Given the description of an element on the screen output the (x, y) to click on. 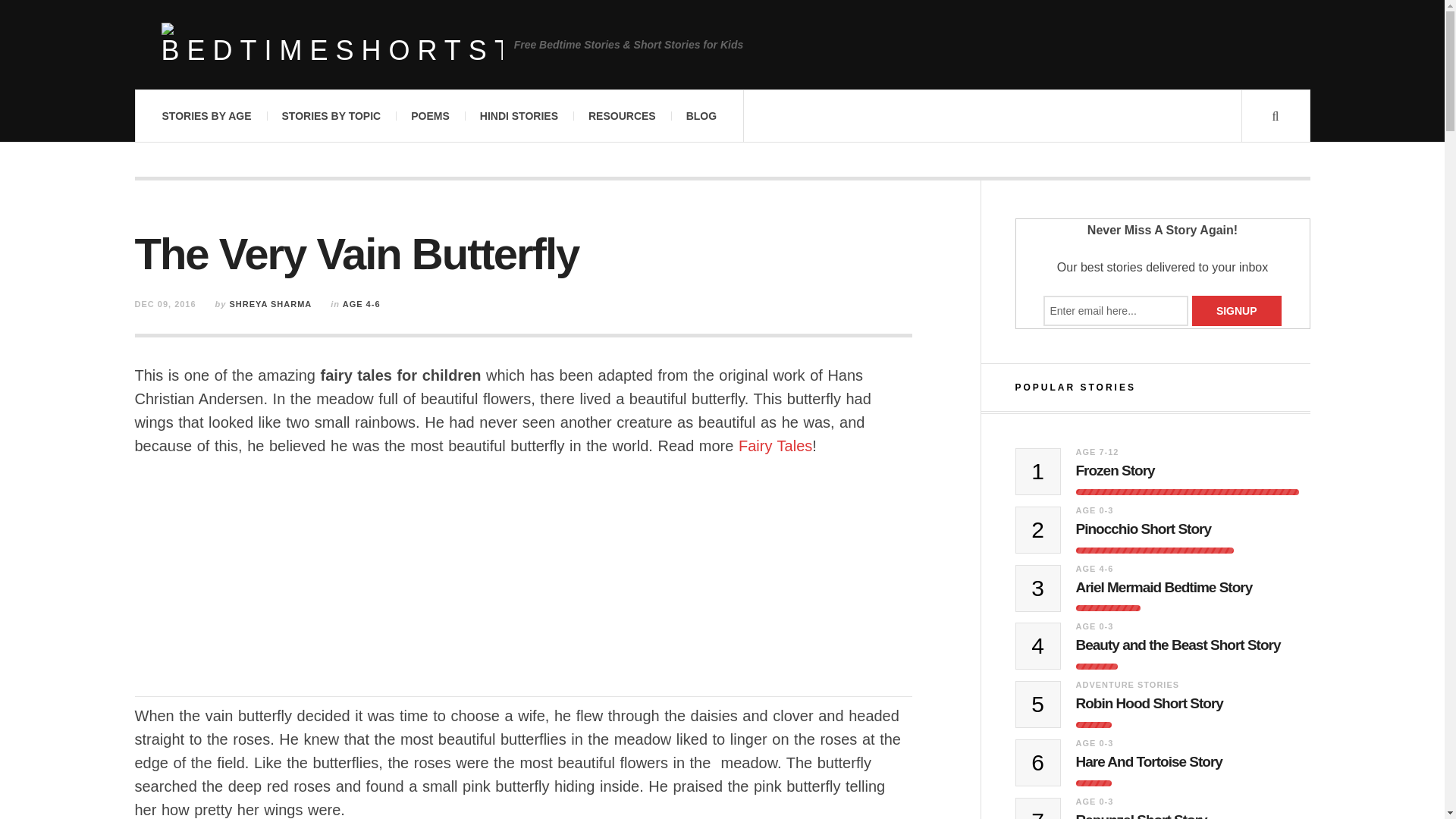
View all posts in Age 4-6 (361, 303)
View all posts in Adventure Stories (1127, 684)
RESOURCES (622, 115)
BLOG (701, 115)
View all posts in Age 4-6 (1094, 568)
Bedtimeshortstories (331, 44)
Signup (1236, 310)
View all posts in Age 0-3 (1094, 510)
Enter email here... (1115, 310)
HINDI STORIES (518, 115)
